Given the description of an element on the screen output the (x, y) to click on. 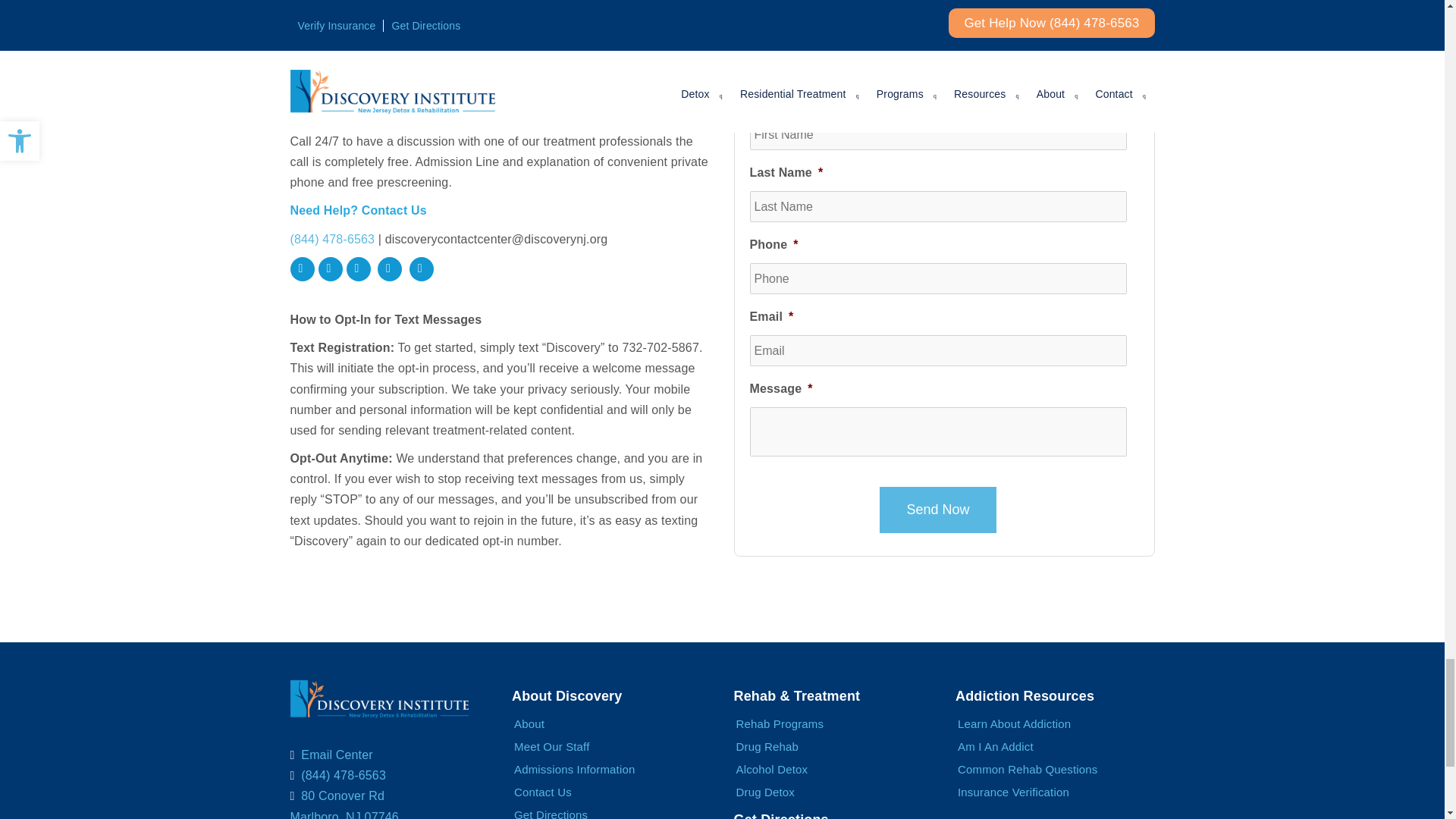
Send Now (937, 509)
